Given the description of an element on the screen output the (x, y) to click on. 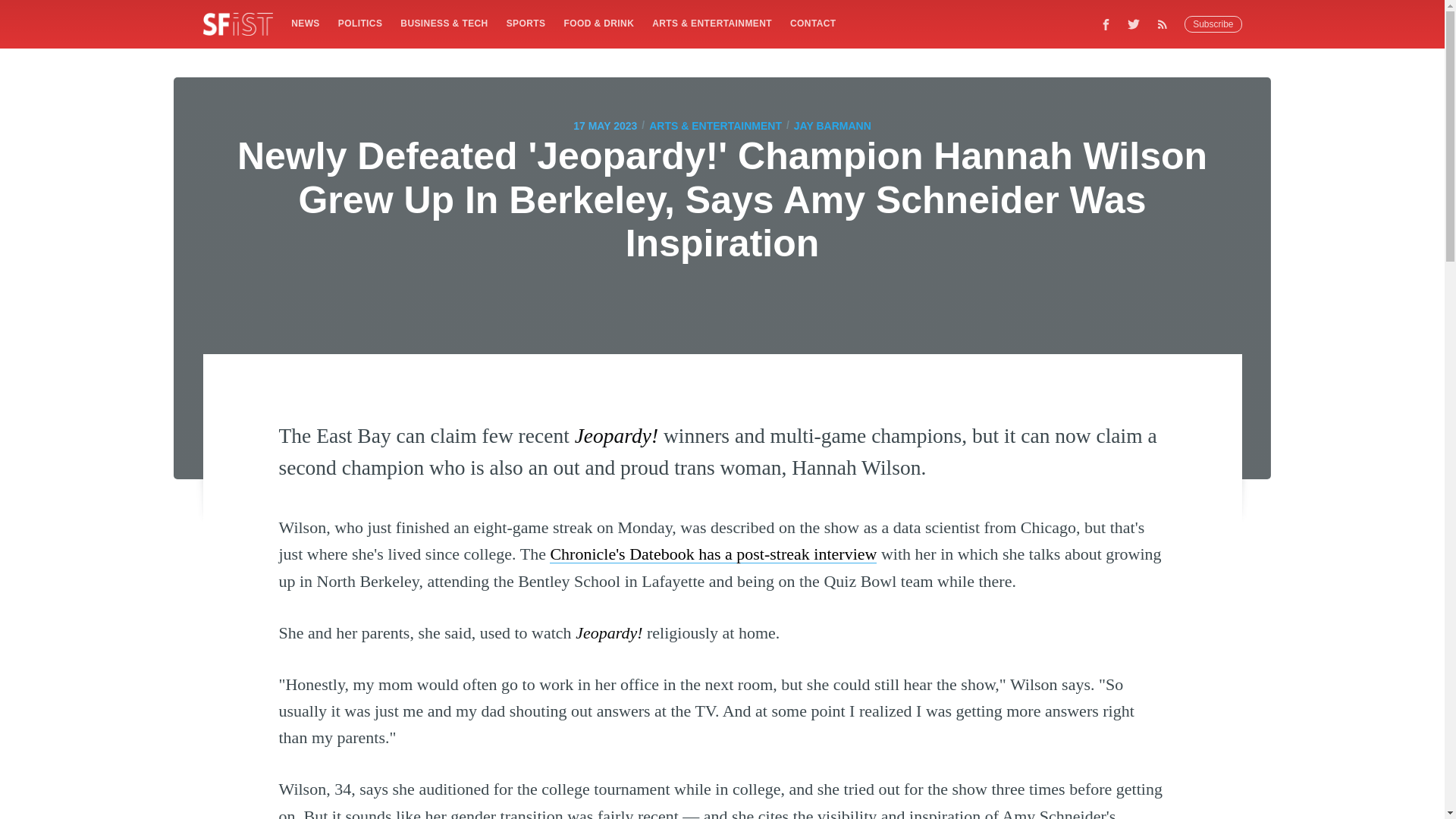
Chronicle's Datebook has a post-streak interview (713, 553)
POLITICS (360, 23)
Subscribe (1213, 23)
SPORTS (525, 23)
RSS (1166, 23)
Twitter (1133, 23)
JAY BARMANN (831, 126)
CONTACT (812, 23)
NEWS (305, 23)
Facebook (1106, 23)
